Given the description of an element on the screen output the (x, y) to click on. 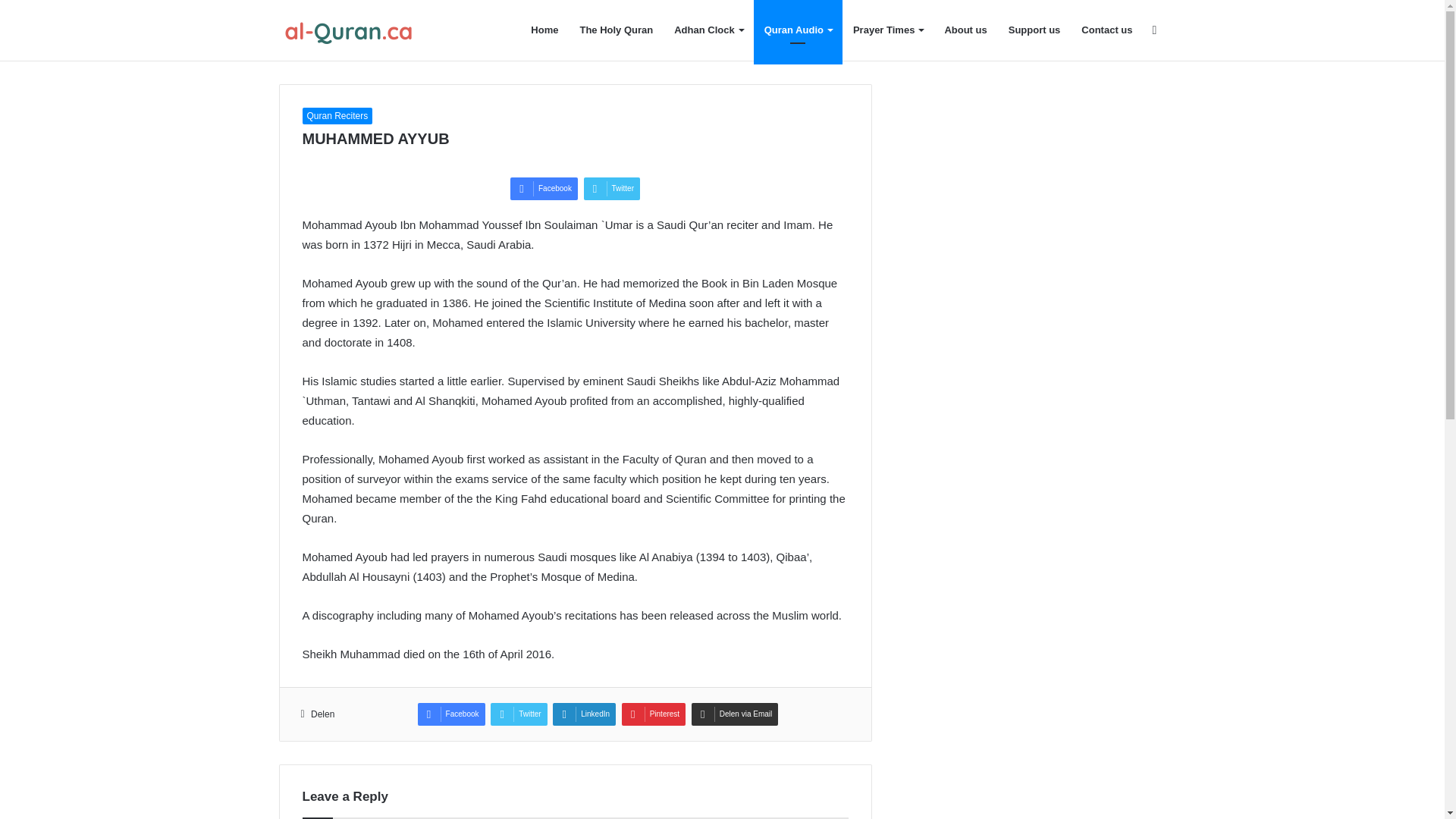
Contact us (1106, 30)
LinkedIn (584, 713)
Delen via Email (734, 713)
Twitter (611, 188)
Al-Quran.ca (354, 30)
Support us (1034, 30)
Pinterest (653, 713)
Adhan Clock (707, 30)
Quran Reciters (336, 115)
Twitter (518, 713)
